Given the description of an element on the screen output the (x, y) to click on. 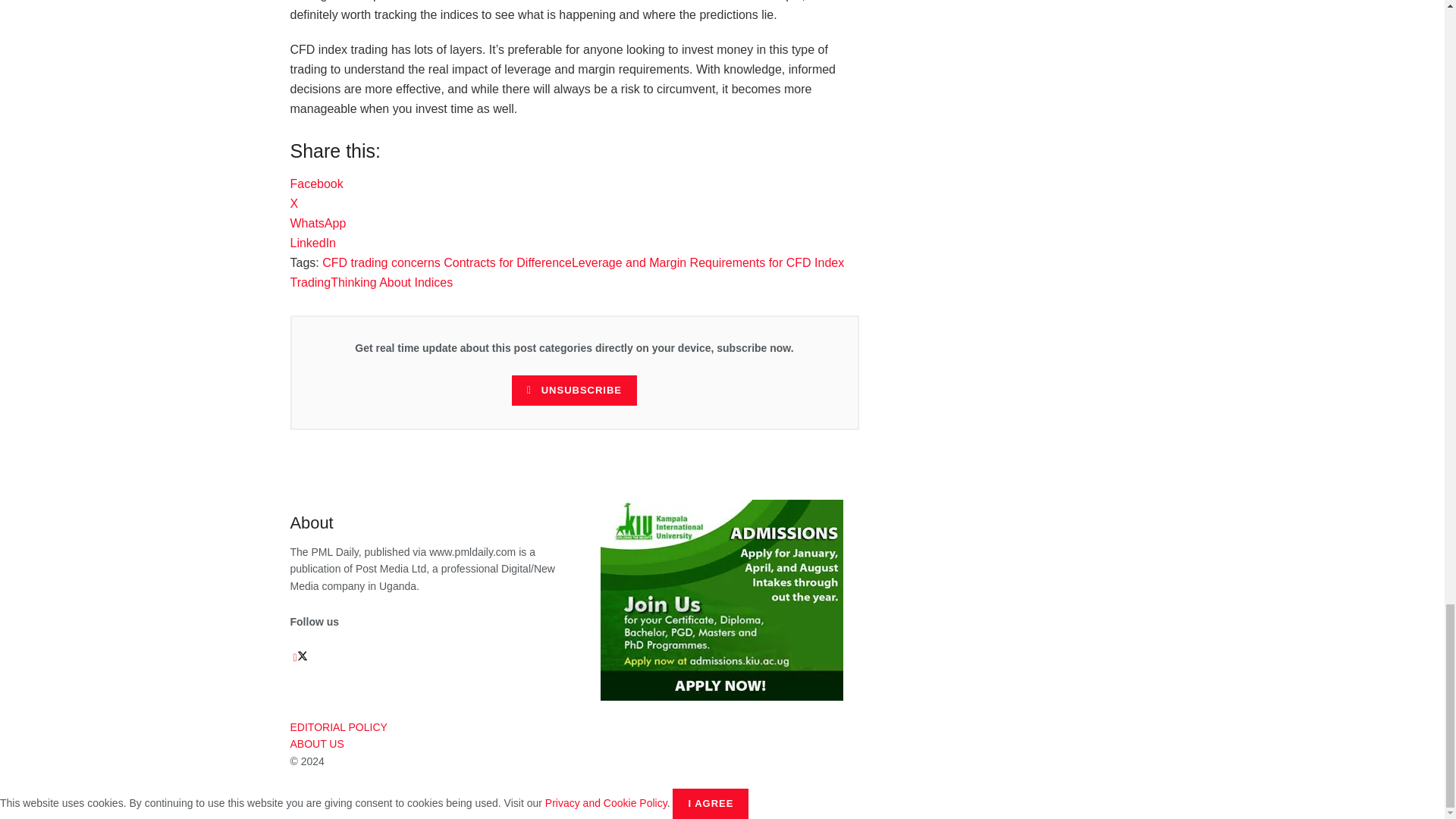
Click to share on WhatsApp (317, 223)
Click to share on Facebook (315, 183)
Click to share on LinkedIn (312, 242)
